Given the description of an element on the screen output the (x, y) to click on. 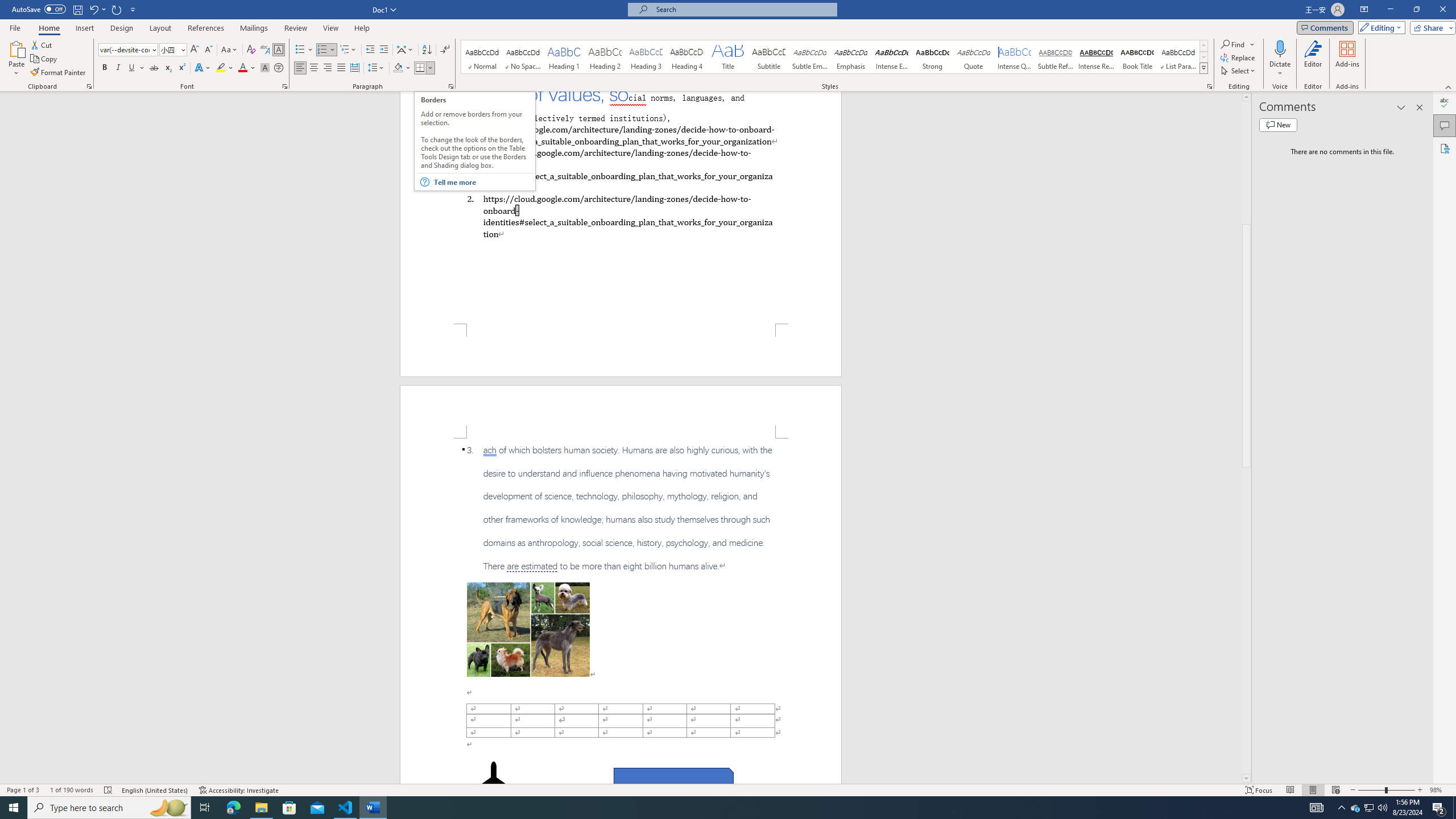
Subtle Emphasis (809, 56)
Heading 3 (646, 56)
Heading 1 (564, 56)
